Given the description of an element on the screen output the (x, y) to click on. 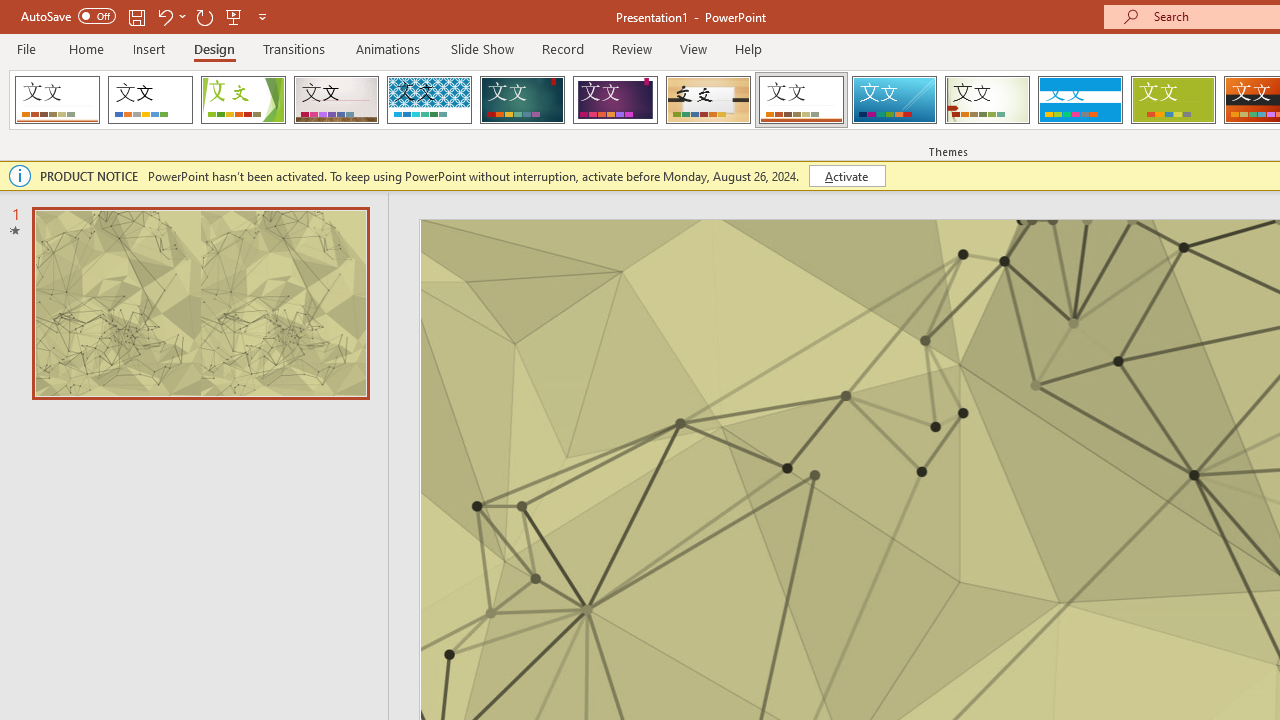
Gallery (336, 100)
Slice (893, 100)
Integral (429, 100)
Banded (1080, 100)
FadeVTI (57, 100)
Retrospect (801, 100)
